Given the description of an element on the screen output the (x, y) to click on. 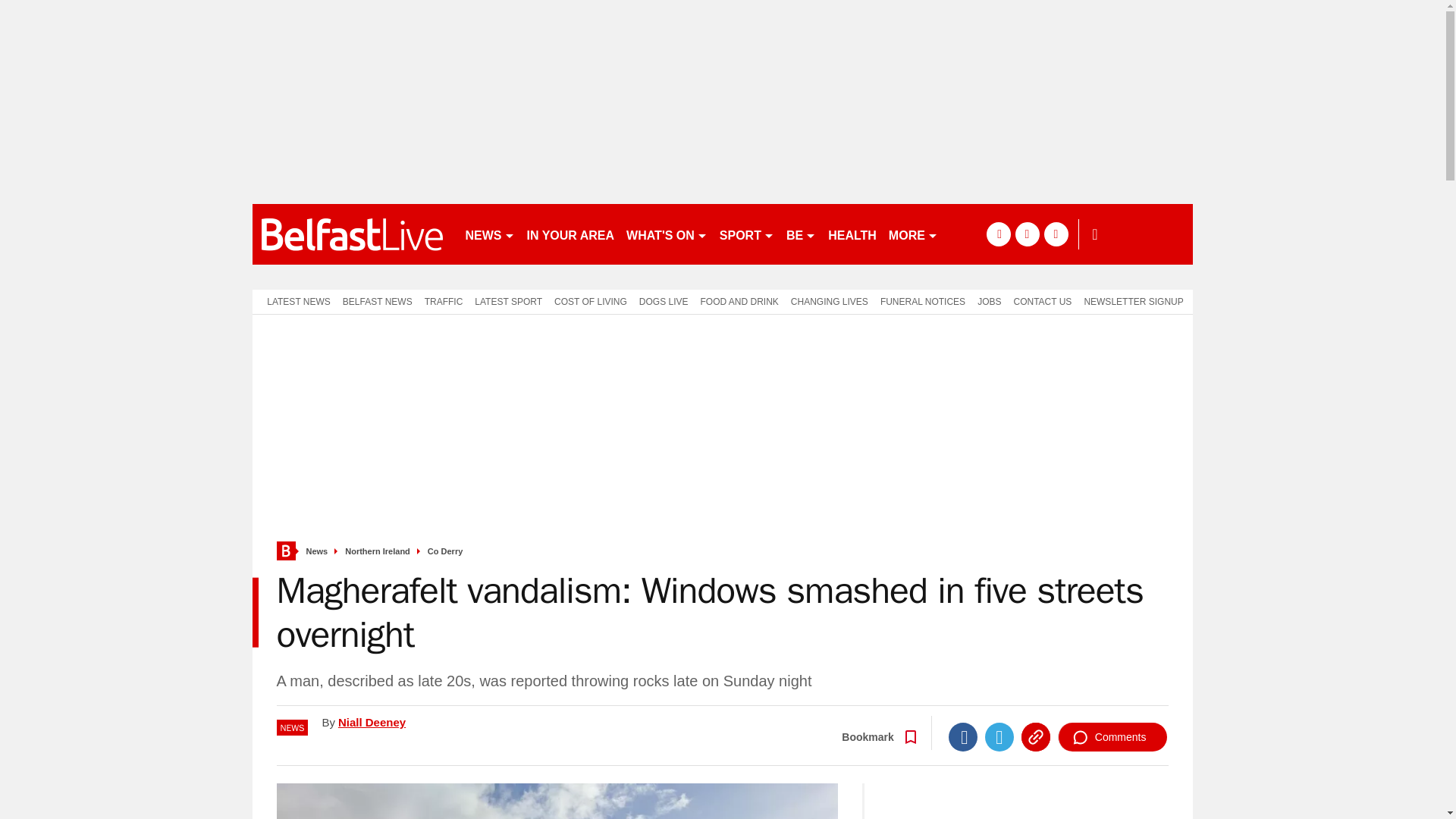
SPORT (746, 233)
Twitter (999, 736)
twitter (1026, 233)
instagram (1055, 233)
NEWS (490, 233)
WHAT'S ON (666, 233)
IN YOUR AREA (569, 233)
Facebook (962, 736)
facebook (997, 233)
belfastlive (351, 233)
Comments (1112, 736)
